Given the description of an element on the screen output the (x, y) to click on. 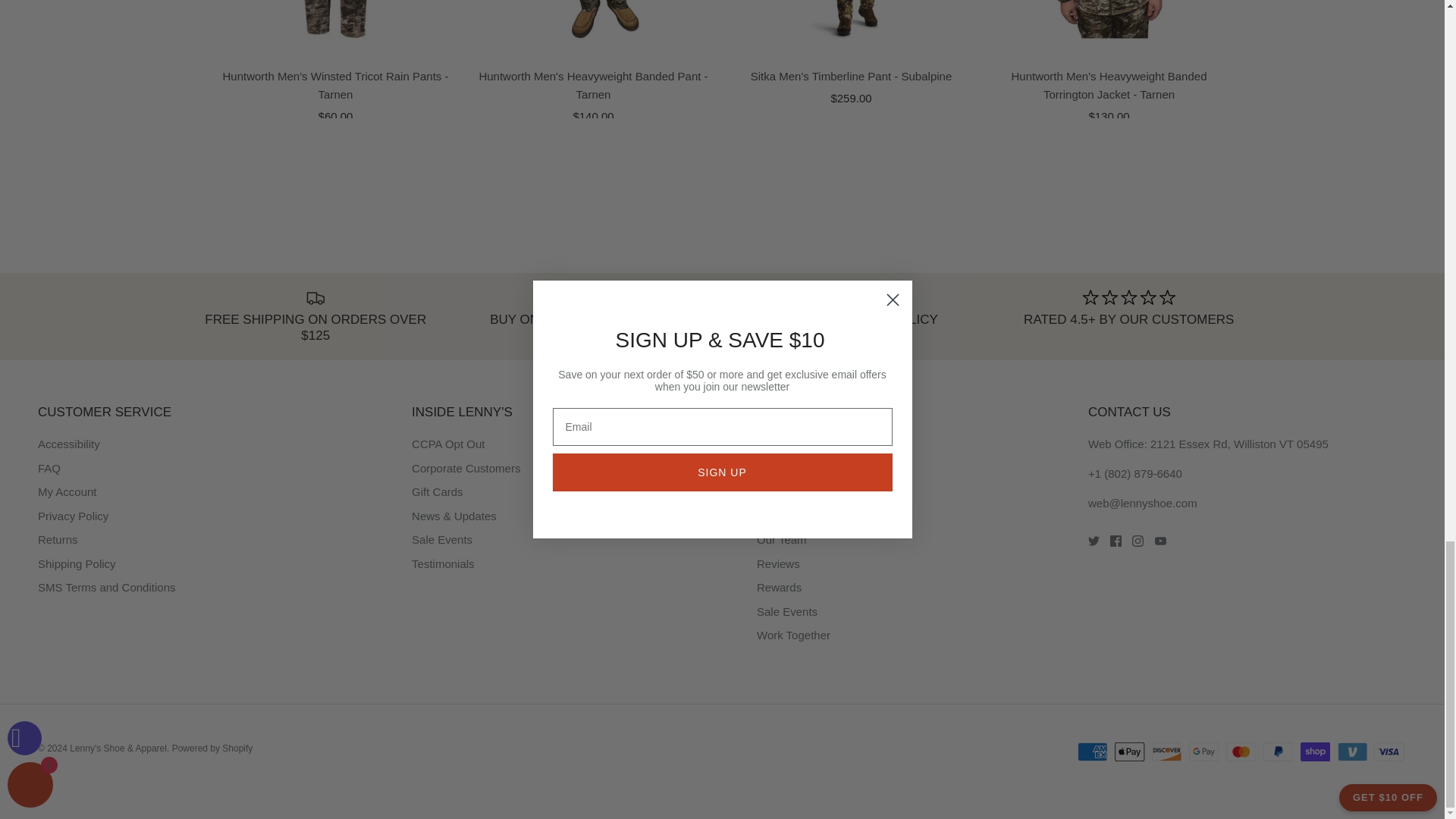
Twitter (1093, 541)
Facebook (1115, 541)
